Given the description of an element on the screen output the (x, y) to click on. 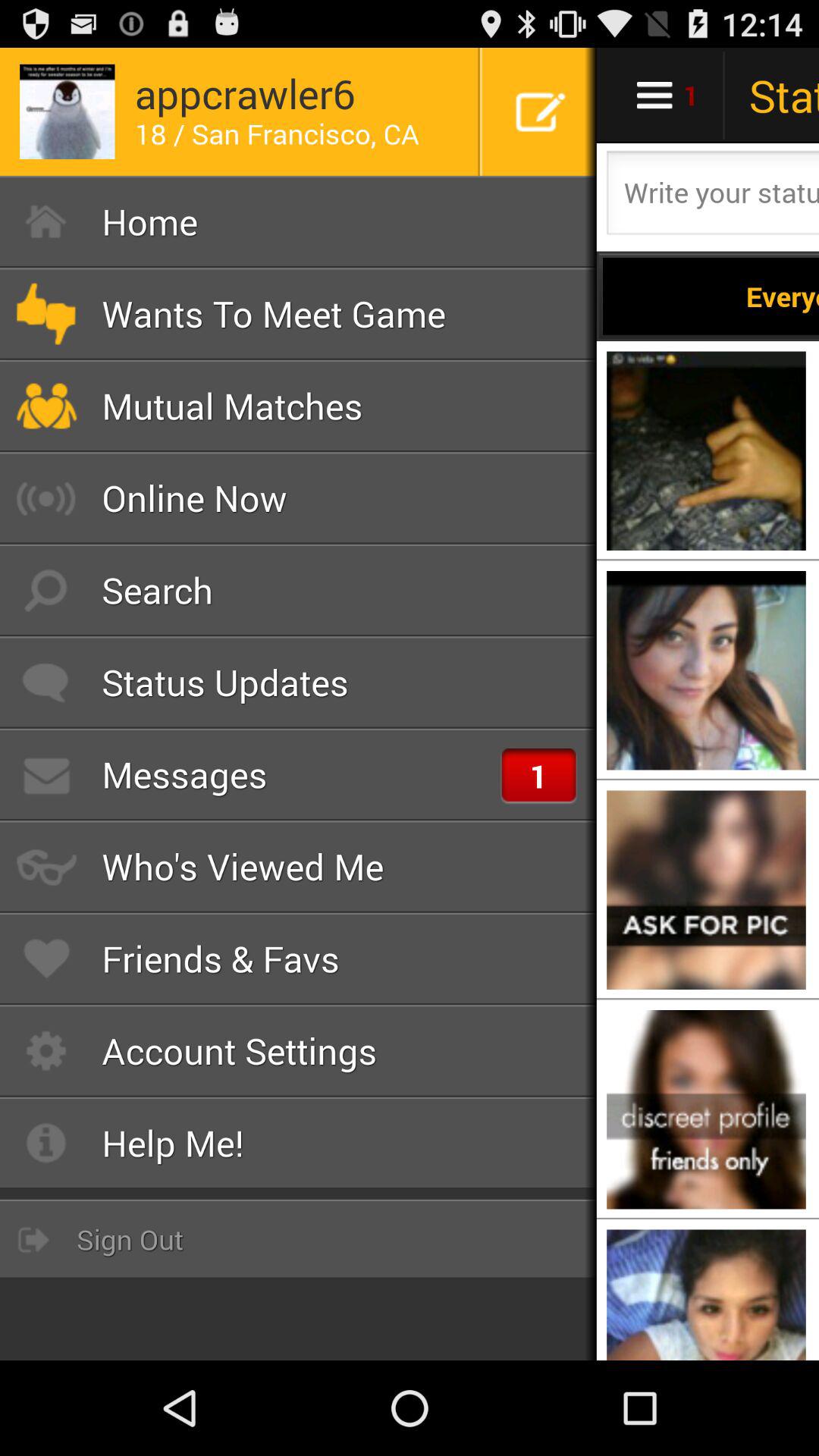
write what 's on your mind (710, 197)
